Given the description of an element on the screen output the (x, y) to click on. 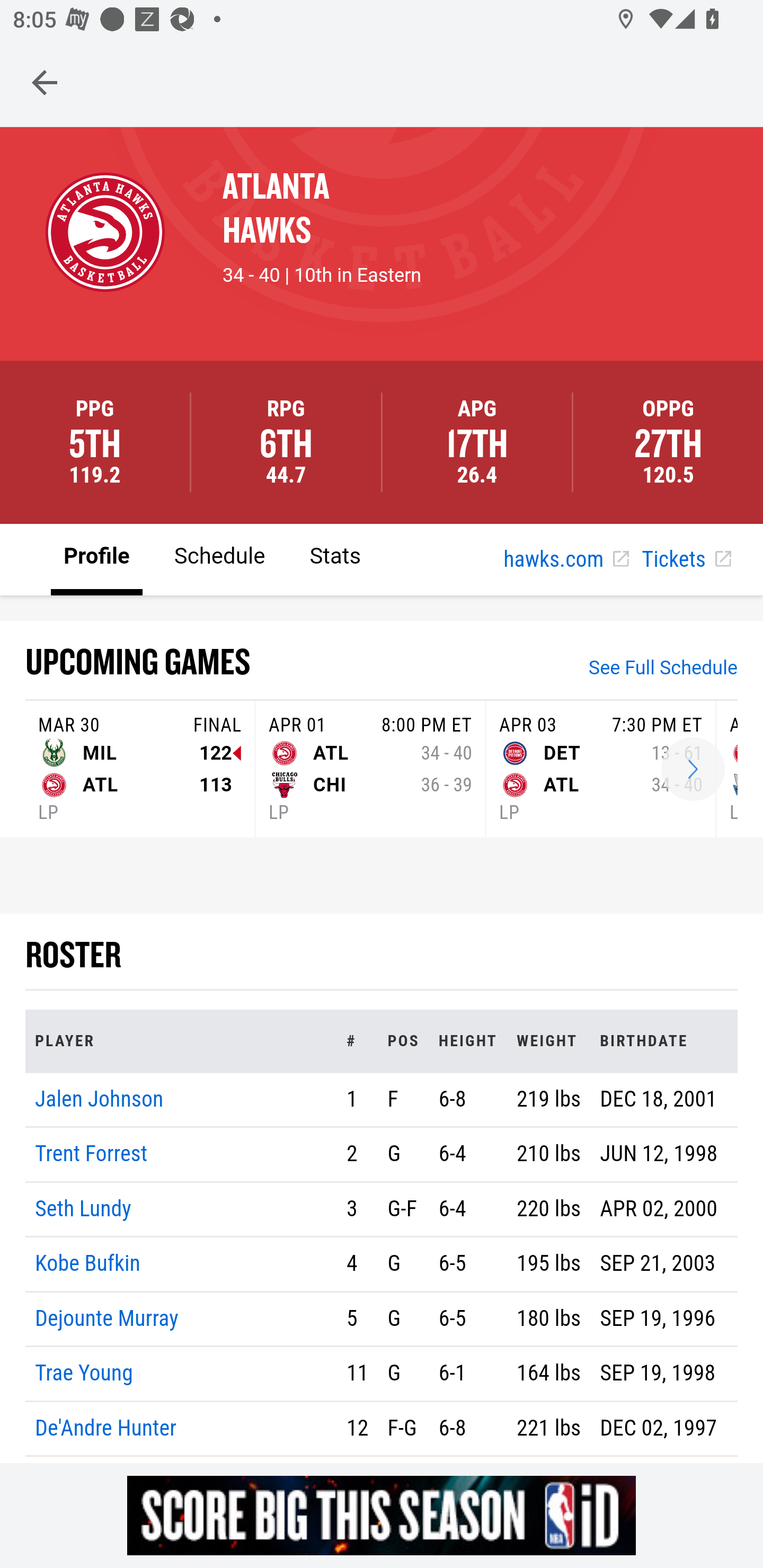
Navigate up (44, 82)
Profile (97, 558)
Schedule (219, 558)
Stats (335, 558)
hawks.com (565, 560)
Tickets (685, 560)
See Full Schedule (662, 669)
Match-up Scores (692, 769)
Jalen Johnson (99, 1098)
Trent Forrest (91, 1154)
Seth Lundy (83, 1207)
Kobe Bufkin (88, 1264)
Dejounte Murray (107, 1317)
Trae Young (84, 1374)
De'Andre Hunter (106, 1427)
g5nqqygr7owph (381, 1515)
